Given the description of an element on the screen output the (x, y) to click on. 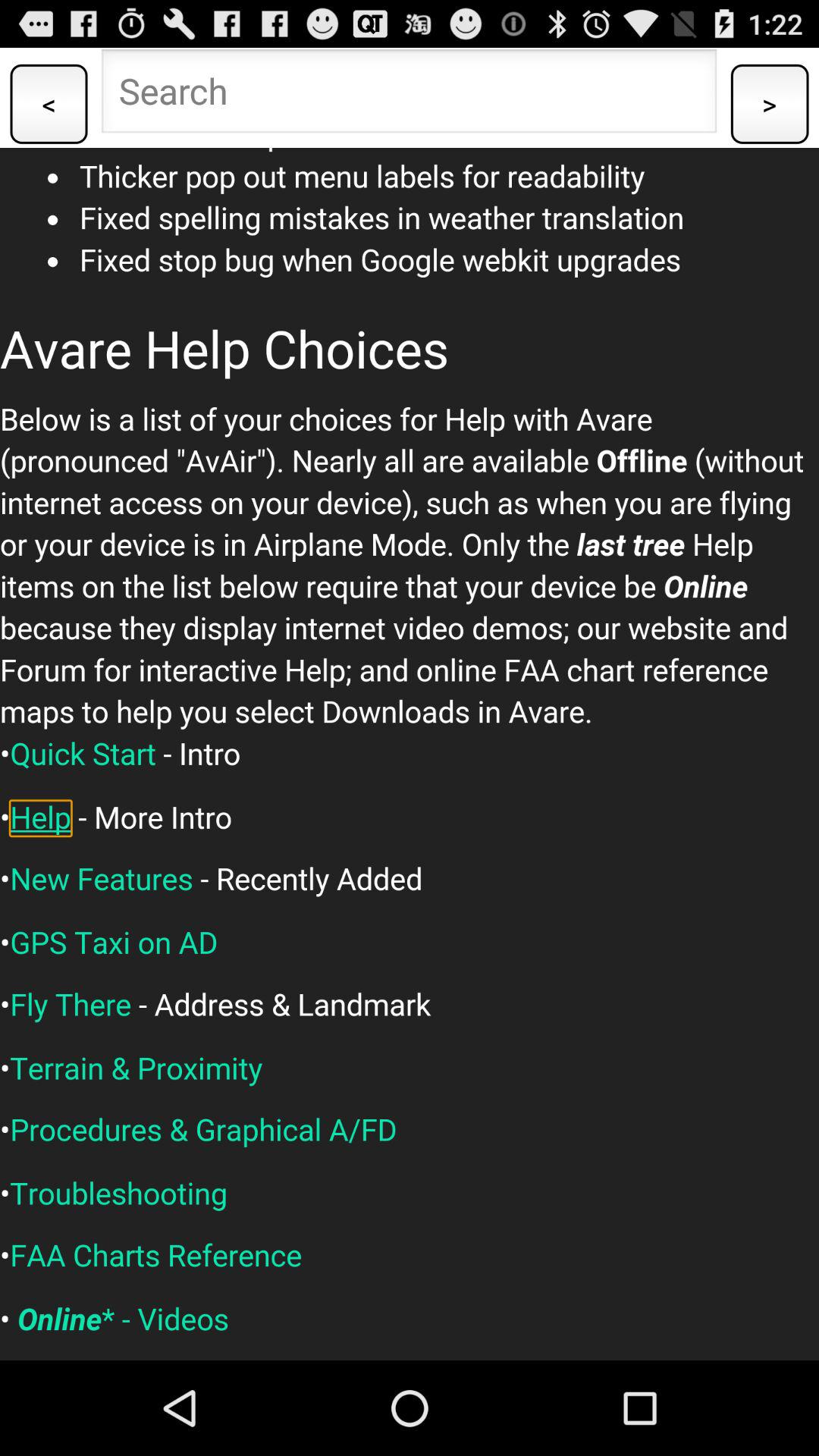
advertasment (409, 753)
